Given the description of an element on the screen output the (x, y) to click on. 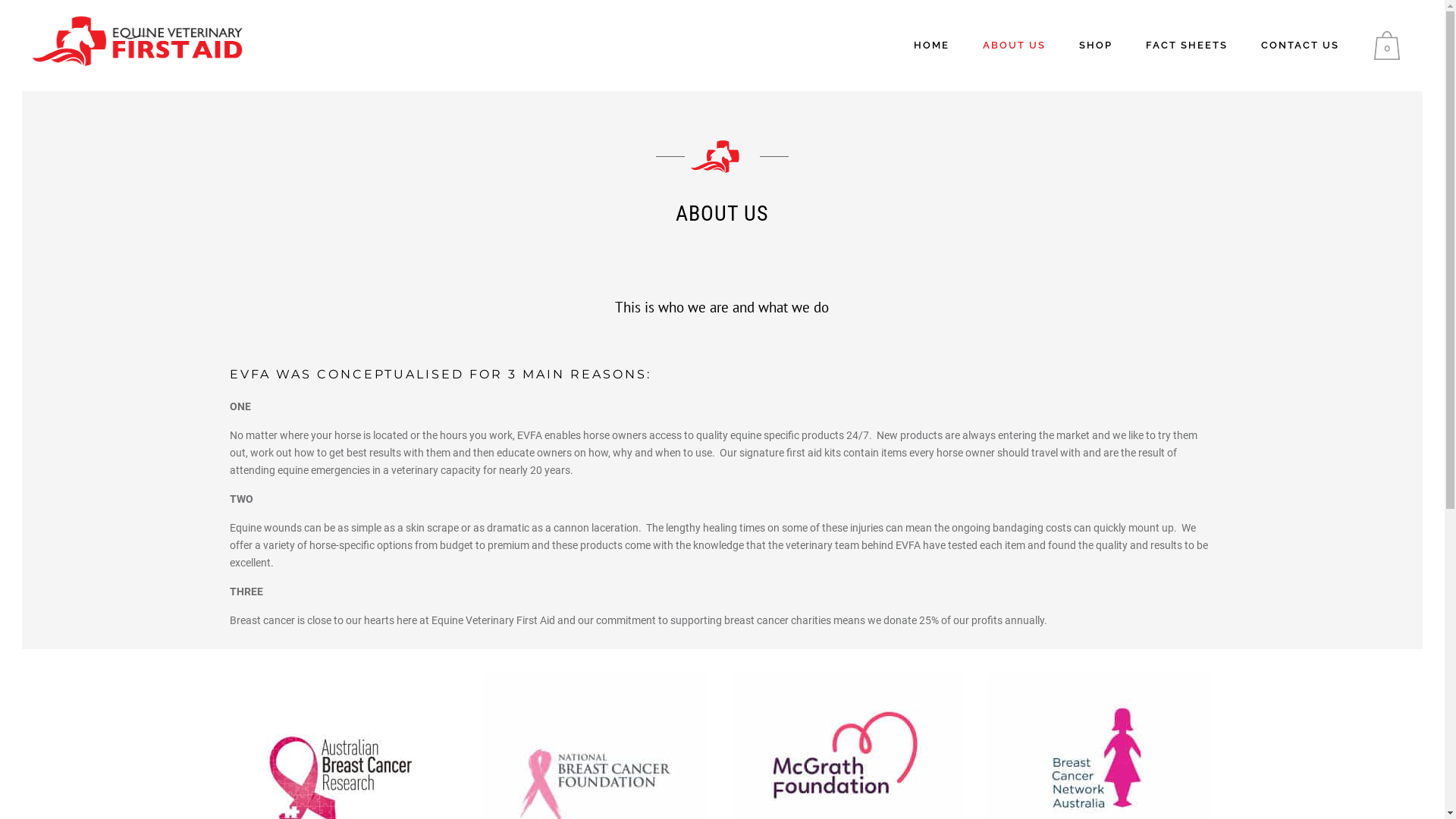
HOME Element type: text (931, 45)
ABOUT US Element type: text (1014, 45)
CONTACT US Element type: text (1299, 45)
SHOP Element type: text (1095, 45)
FACT SHEETS Element type: text (1186, 45)
0 Element type: text (1390, 45)
evfa-seperator Element type: hover (721, 156)
